Given the description of an element on the screen output the (x, y) to click on. 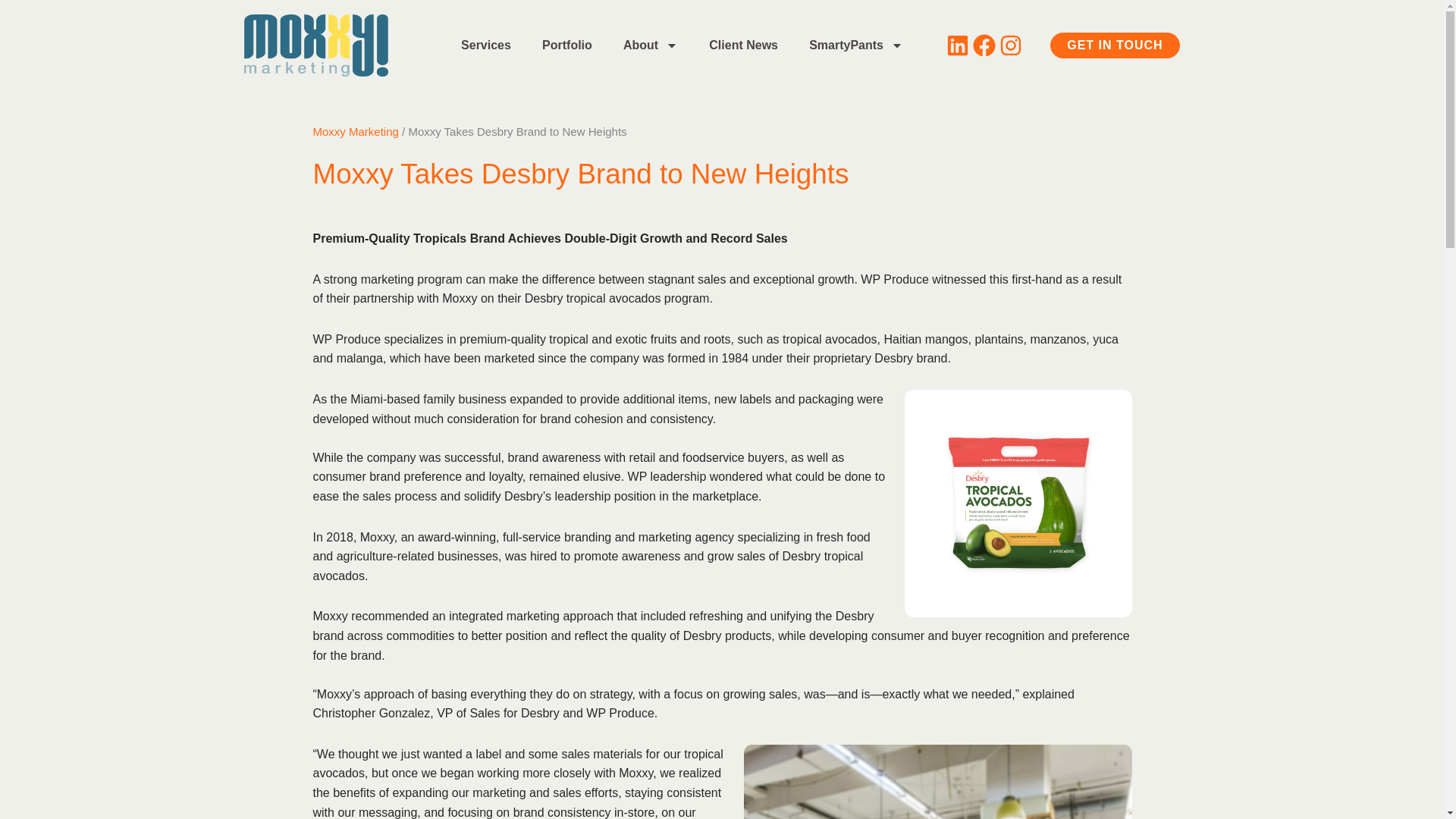
GET IN TOUCH (1114, 45)
Linkedin (957, 45)
SmartyPants (855, 45)
Facebook (983, 45)
About (650, 45)
Client News (743, 45)
Portfolio (566, 45)
Instagram (1010, 45)
Services (486, 45)
Moxxy Marketing (355, 131)
